Given the description of an element on the screen output the (x, y) to click on. 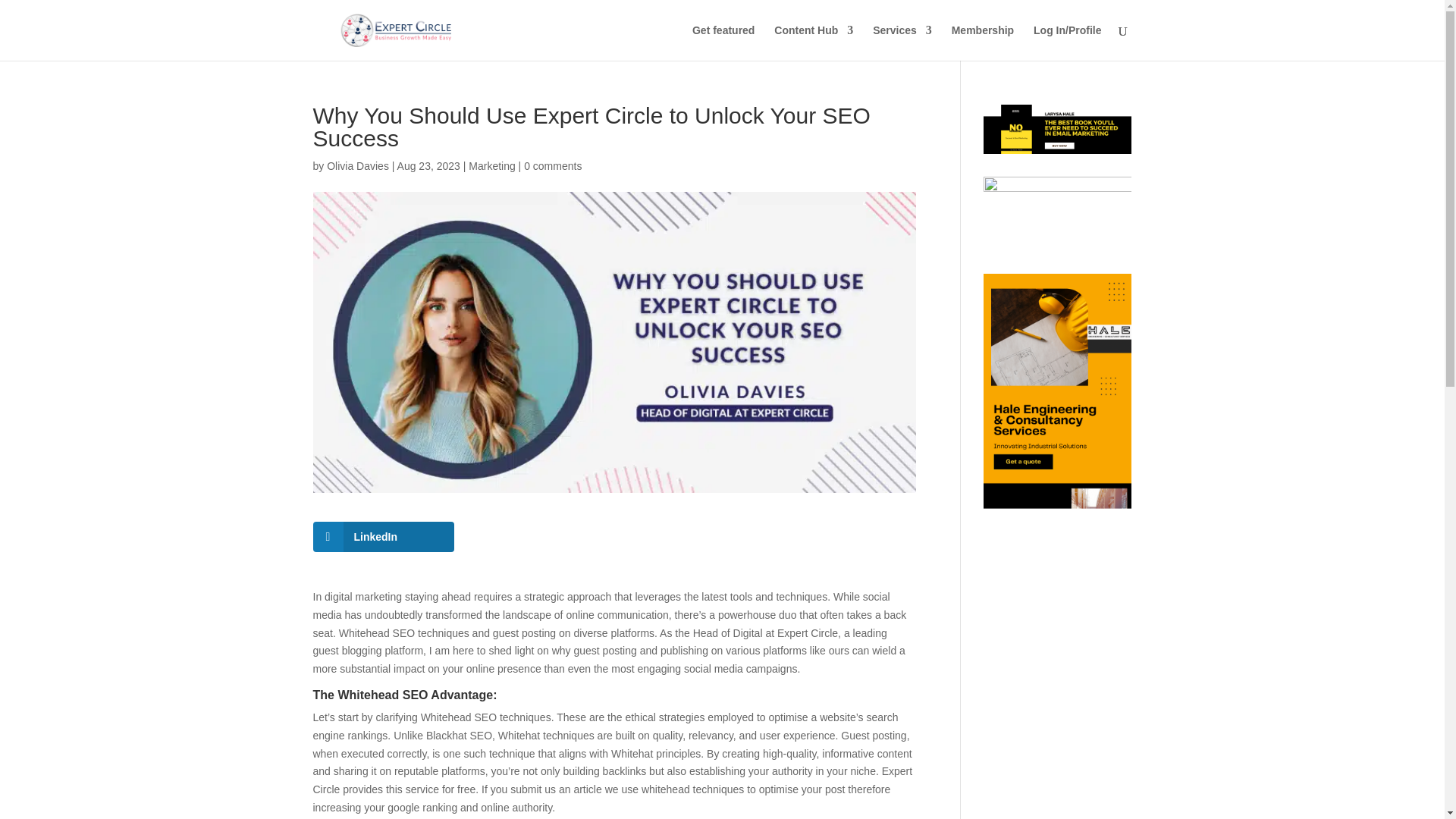
Membership (982, 42)
Services (901, 42)
Get featured (723, 42)
Content Hub (813, 42)
0 comments (552, 165)
Posts by Olivia Davies (357, 165)
Marketing (491, 165)
Olivia Davies (357, 165)
LinkedIn (383, 536)
